Given the description of an element on the screen output the (x, y) to click on. 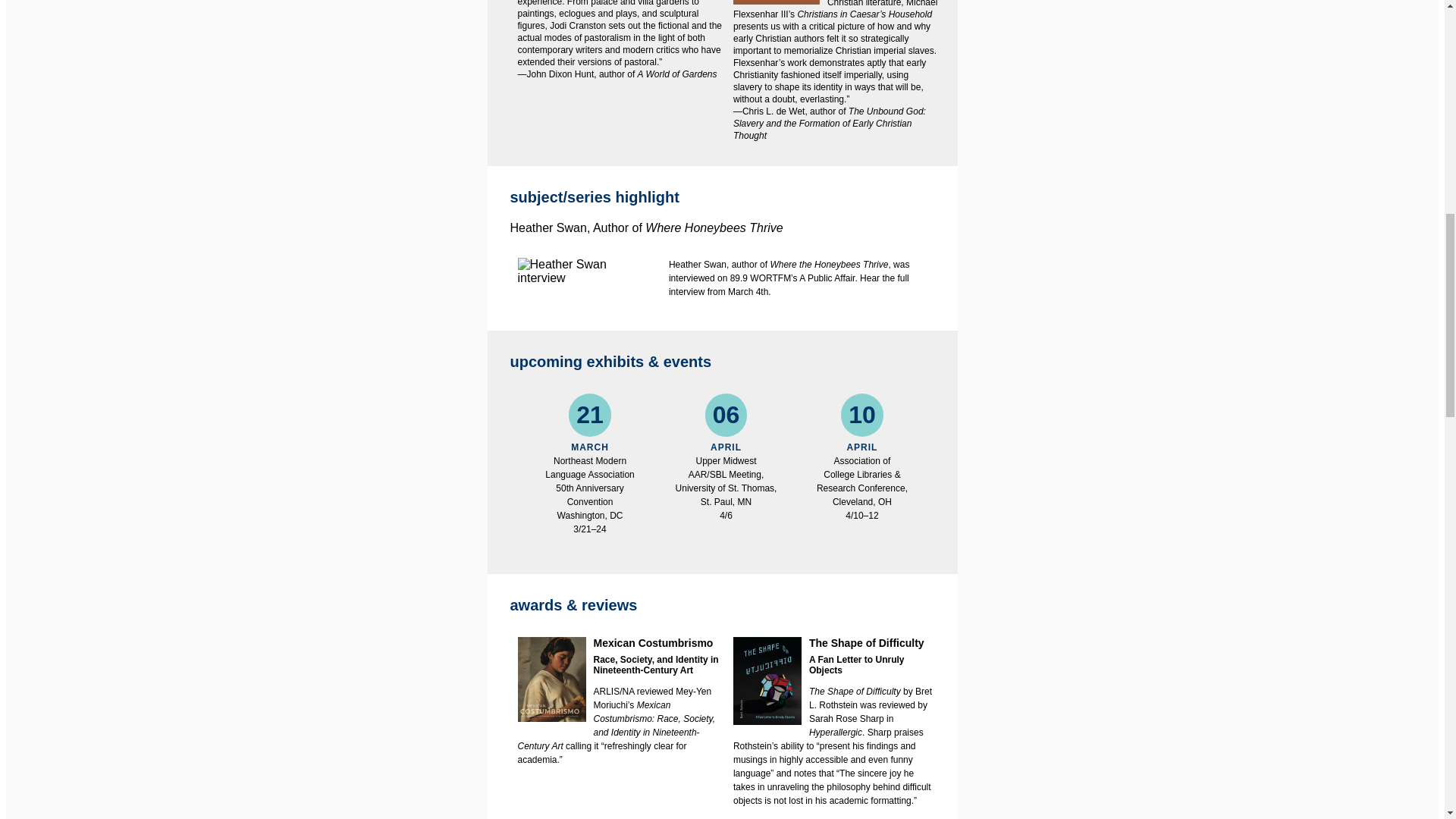
A Fan Letter to Unruly Objects (856, 664)
Race, Society, and Identity in Nineteenth-Century Art (654, 664)
The Shape of Difficulty (835, 643)
Mexican Costumbrismo (619, 643)
